Given the description of an element on the screen output the (x, y) to click on. 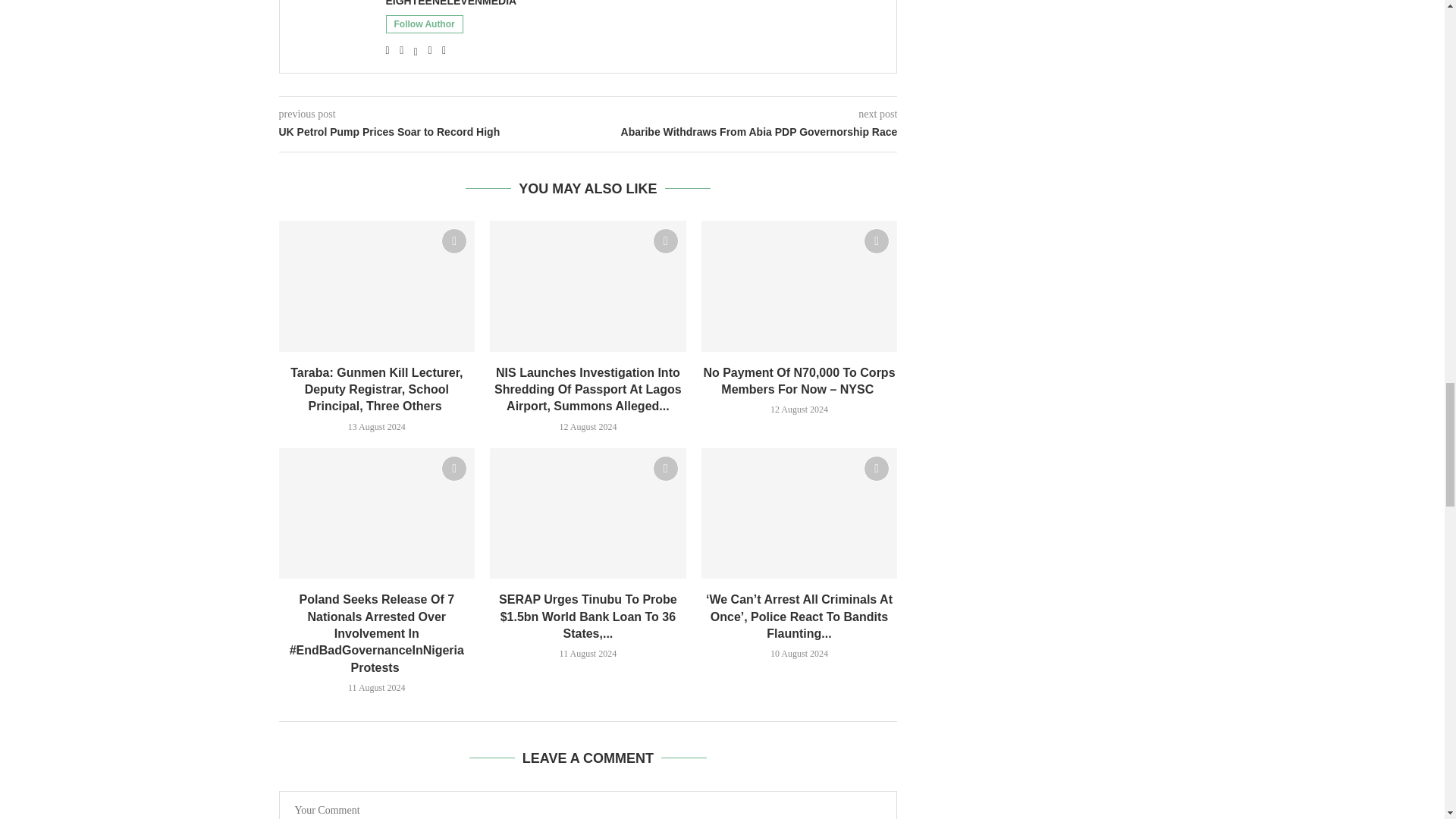
Author eighteenelevenmedia (450, 4)
